Given the description of an element on the screen output the (x, y) to click on. 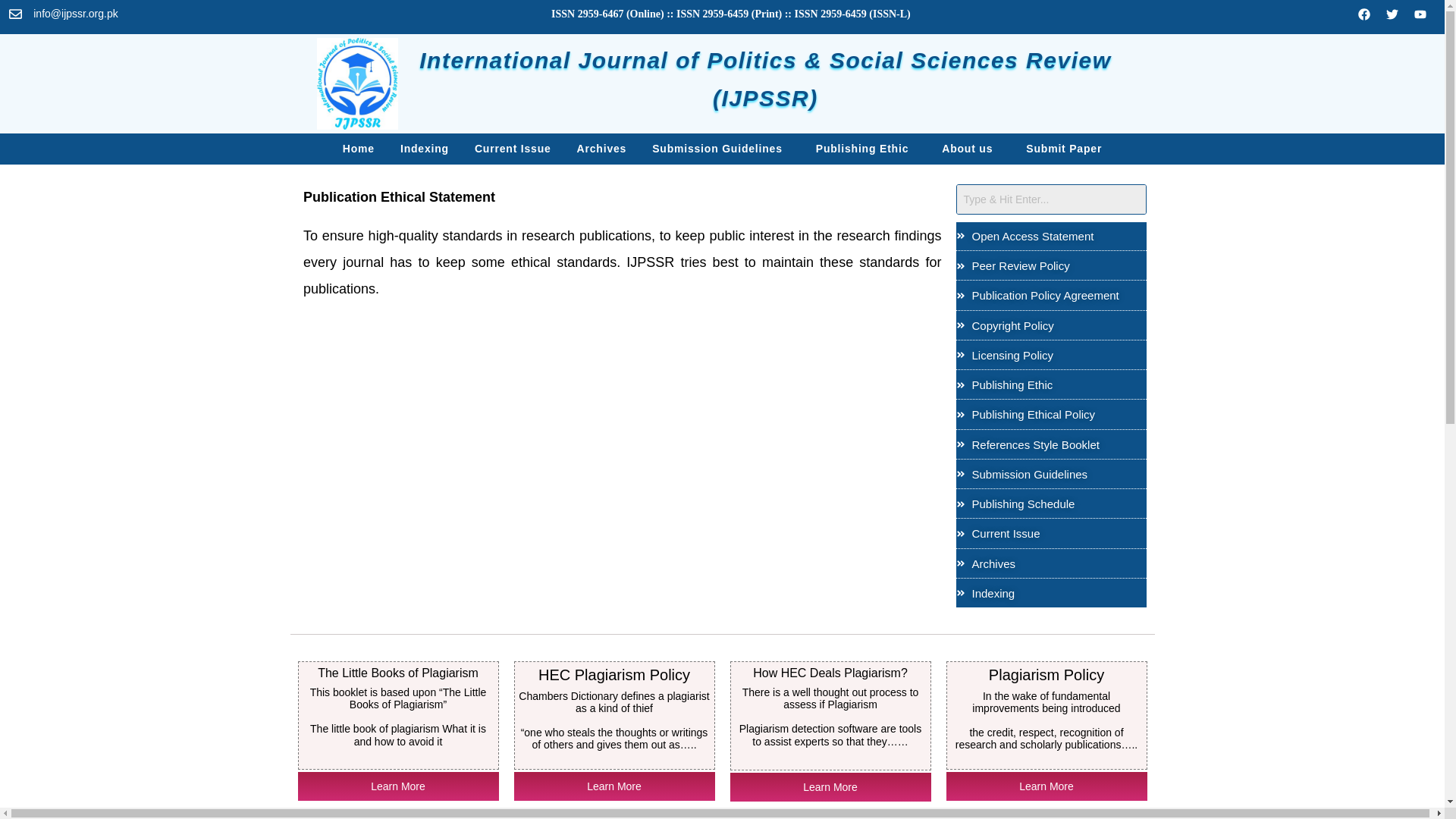
Current Issue (513, 148)
Indexing (423, 148)
Publication Policy Agreement (1050, 295)
Licensing Policy (1050, 354)
Publishing Ethic (865, 148)
Submit Paper (1064, 148)
Search (1050, 199)
About us (970, 148)
Open Access Statement (1050, 236)
Peer Review Policy (1050, 265)
Archives (601, 148)
Home (357, 148)
Copyright Policy (1050, 325)
Submission Guidelines (721, 148)
